Given the description of an element on the screen output the (x, y) to click on. 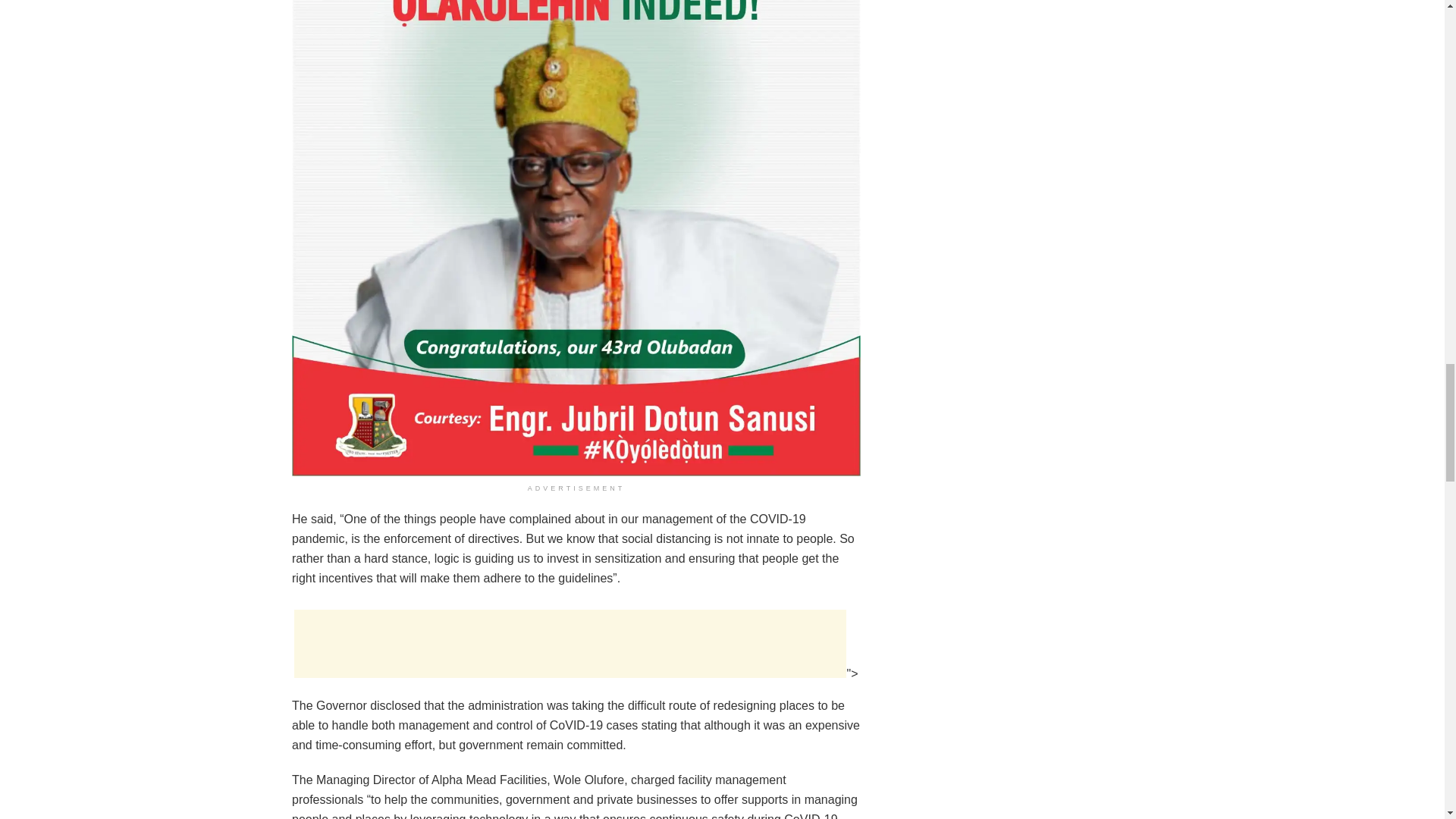
Advertisement (569, 643)
